Given the description of an element on the screen output the (x, y) to click on. 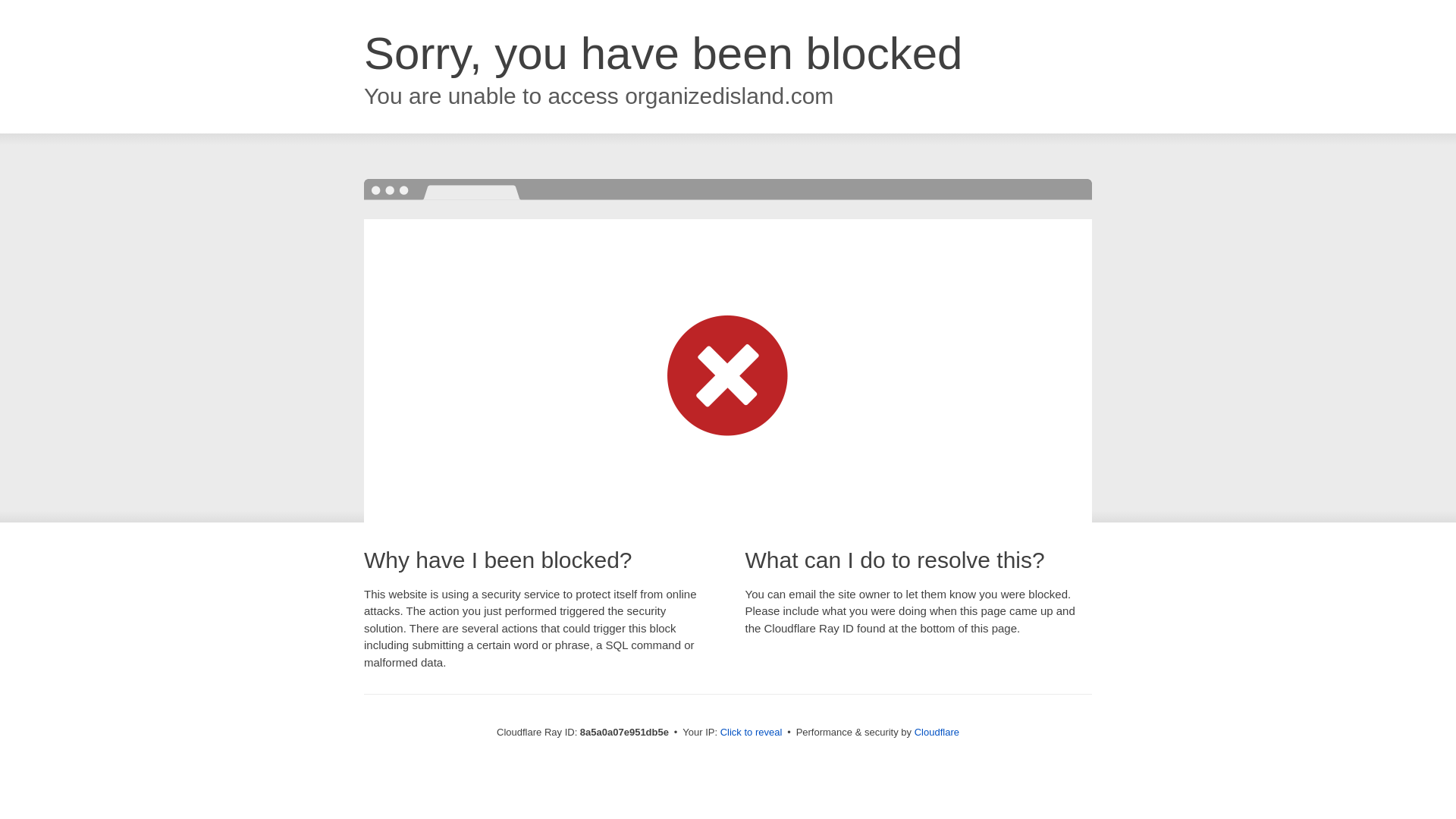
Cloudflare (936, 731)
Click to reveal (751, 732)
